Given the description of an element on the screen output the (x, y) to click on. 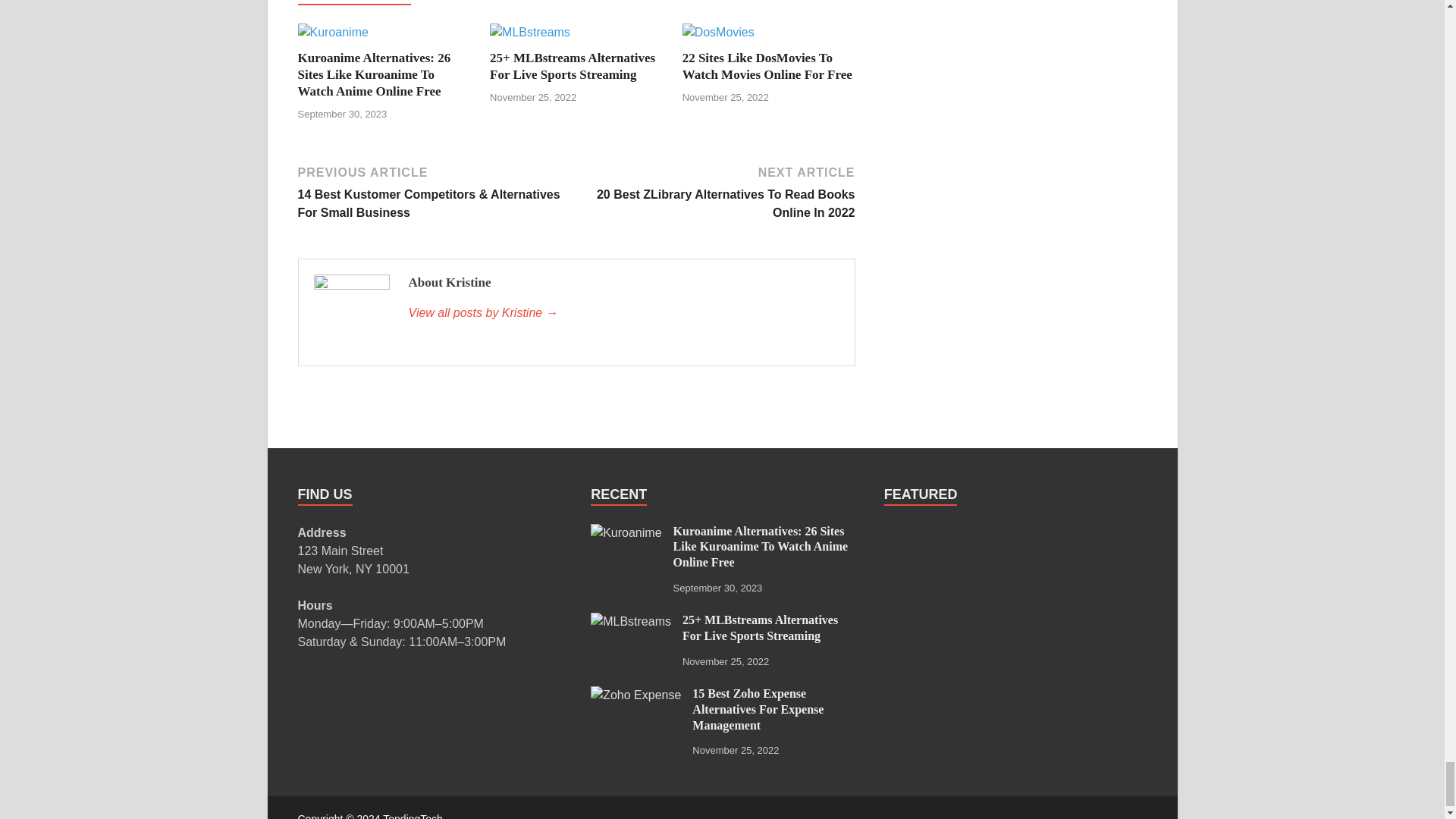
Kristine (622, 312)
22 Sites Like DosMovies To Watch Movies Online For Free (766, 65)
22 Sites Like DosMovies To Watch Movies Online For Free (718, 31)
15 Best Zoho Expense Alternatives For Expense Management (636, 694)
